Given the description of an element on the screen output the (x, y) to click on. 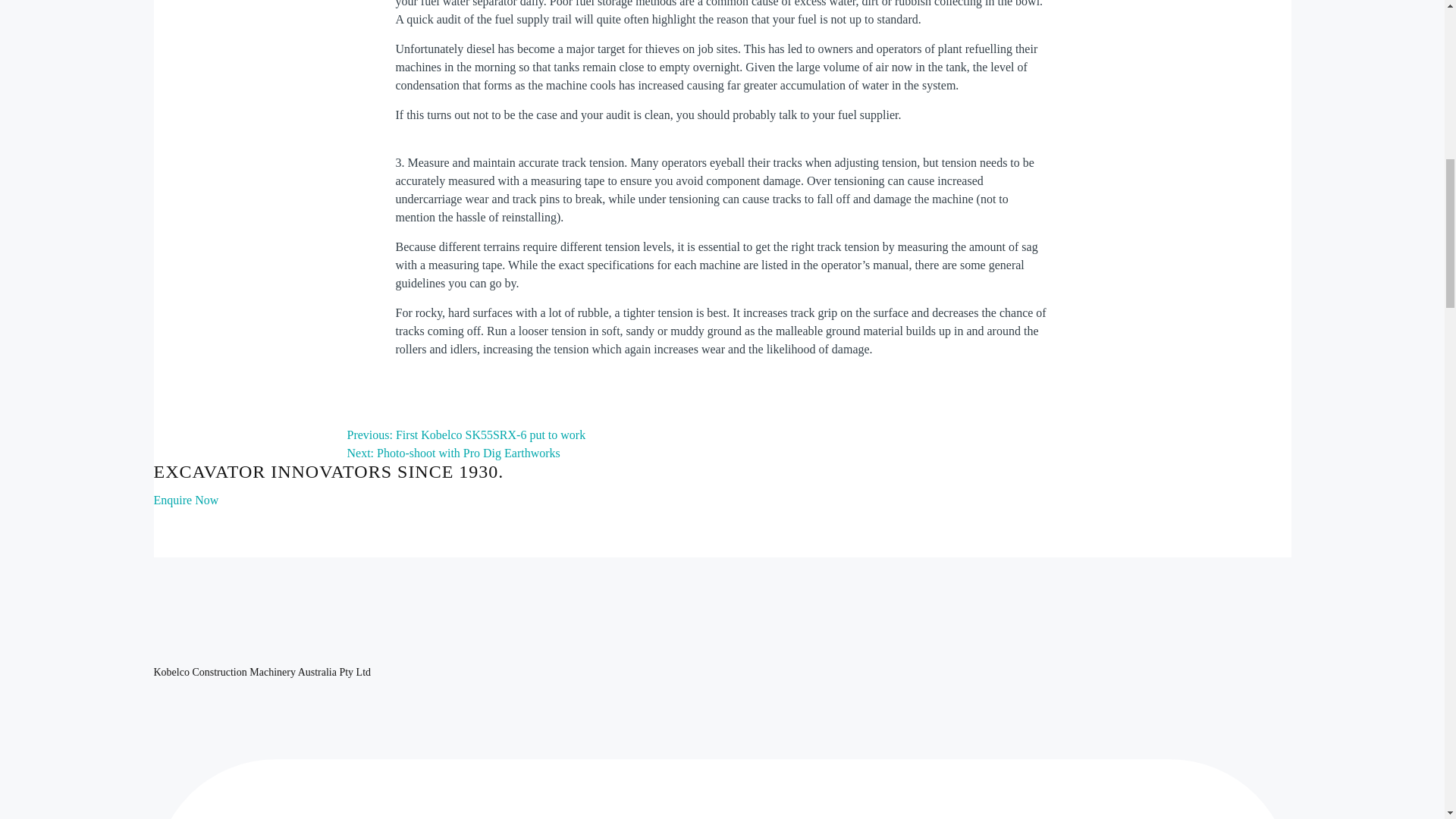
Enquire Now (185, 505)
Enquire Now (185, 505)
Previous: First Kobelco SK55SRX-6 put to work (466, 440)
Next: Photo-shoot with Pro Dig Earthworks (453, 458)
Kobelco (234, 661)
